Given the description of an element on the screen output the (x, y) to click on. 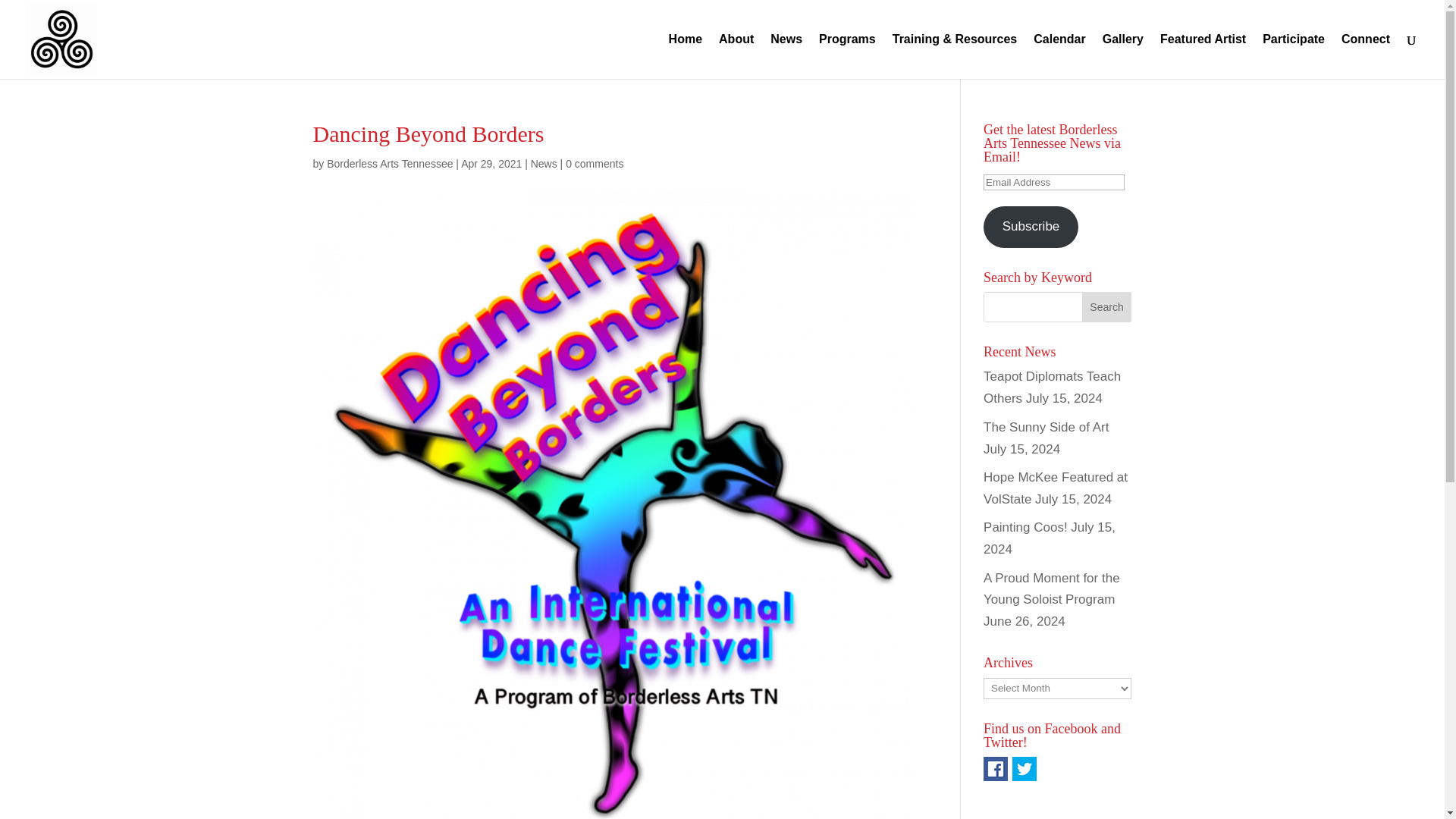
Featured Artist (1203, 56)
News (544, 163)
Connect (1365, 56)
Programs (847, 56)
Hope McKee Featured at VolState (1055, 488)
Subscribe (1031, 227)
Search (1106, 306)
Twitter (1023, 768)
Facebook (995, 768)
Calendar (1058, 56)
Gallery (1122, 56)
0 comments (594, 163)
Participate (1293, 56)
Search (1106, 306)
Posts by Borderless Arts Tennessee (389, 163)
